Given the description of an element on the screen output the (x, y) to click on. 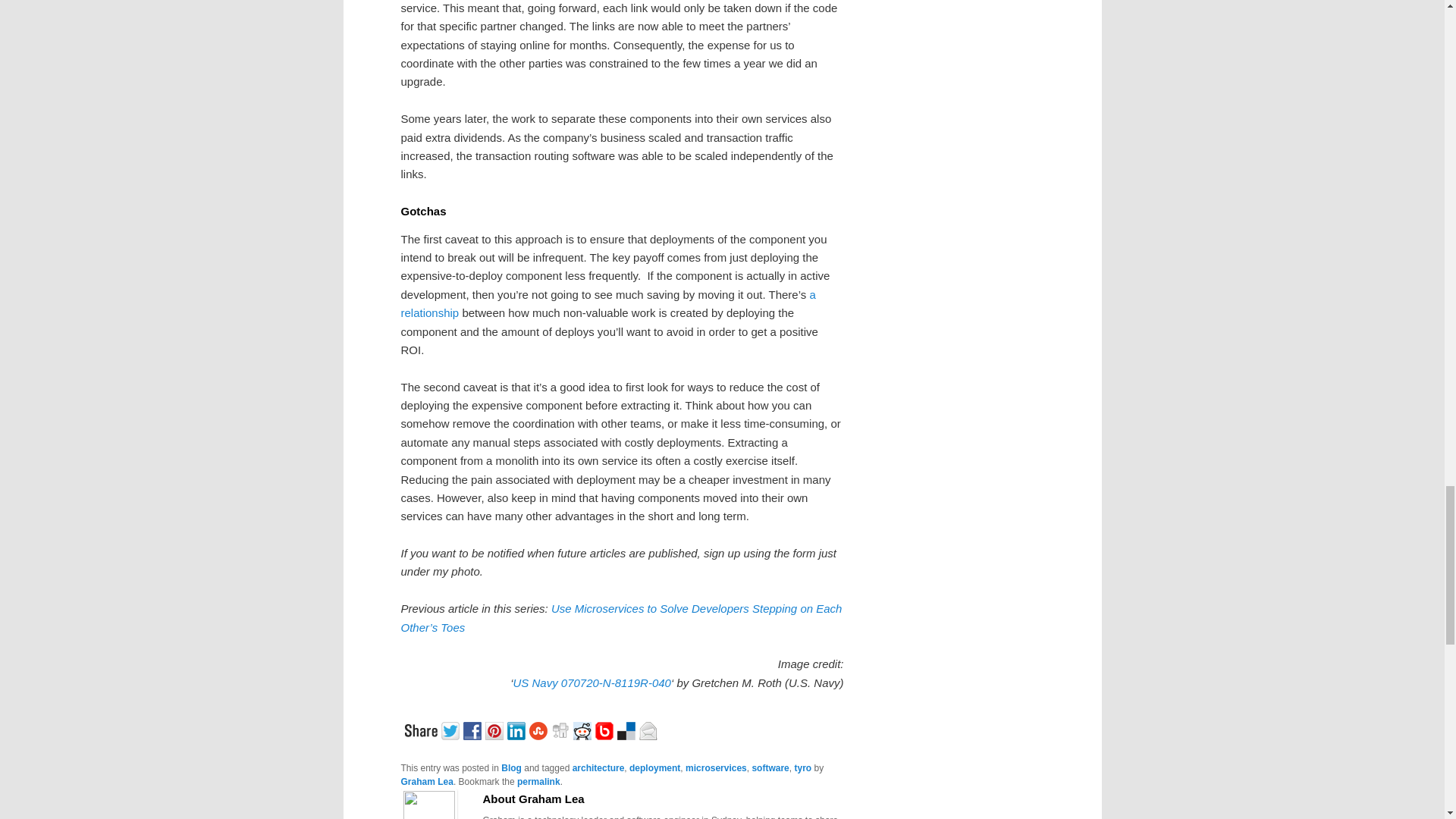
Facebook (473, 729)
Linkedin (517, 729)
Twitter (452, 729)
a relationship (607, 303)
Pinterest (495, 729)
US Navy 070720-N-8119R-040 (590, 682)
